Given the description of an element on the screen output the (x, y) to click on. 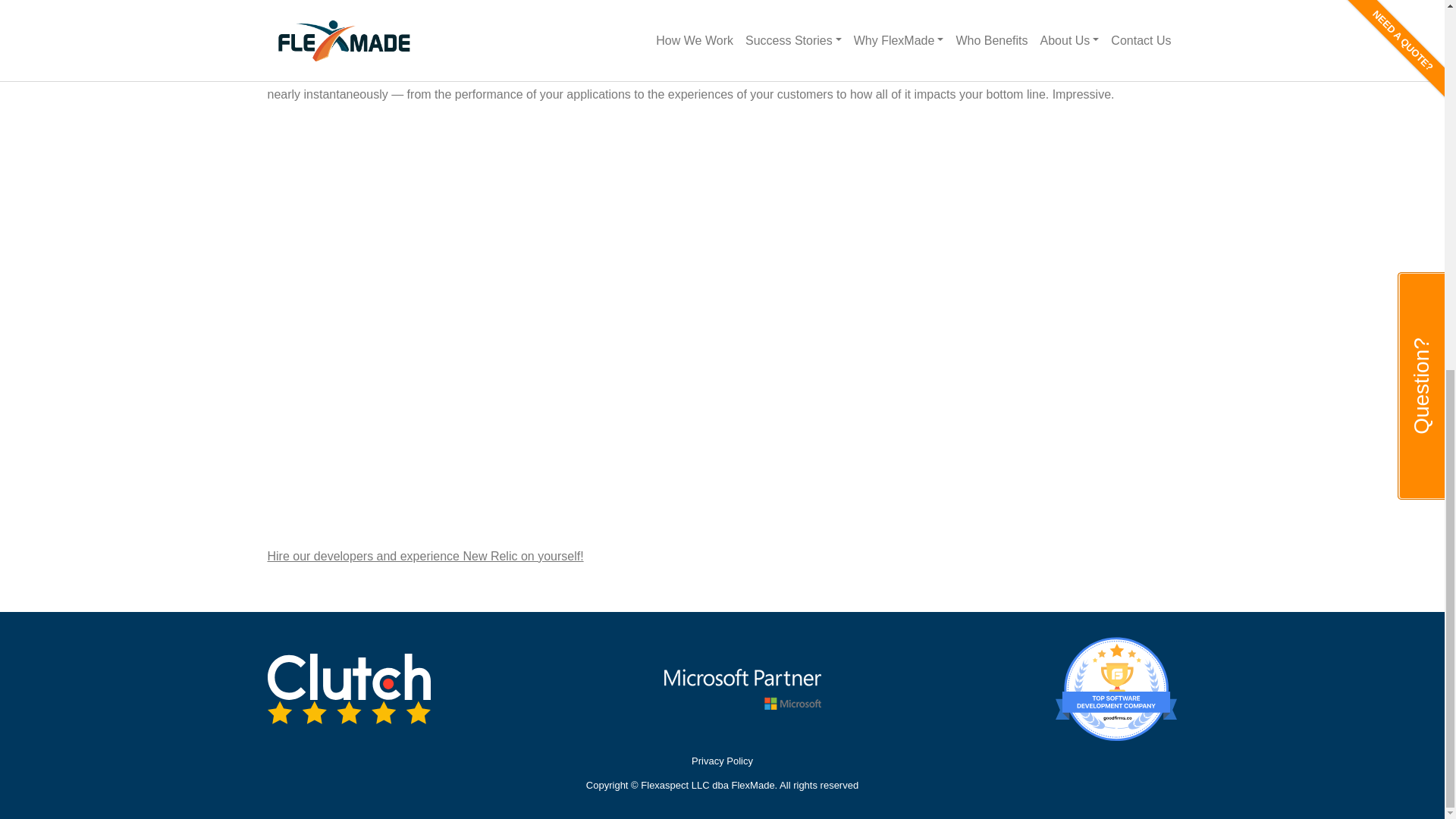
Hire our developers and experience New Relic on yourself! (424, 555)
Privacy Policy (721, 760)
